Given the description of an element on the screen output the (x, y) to click on. 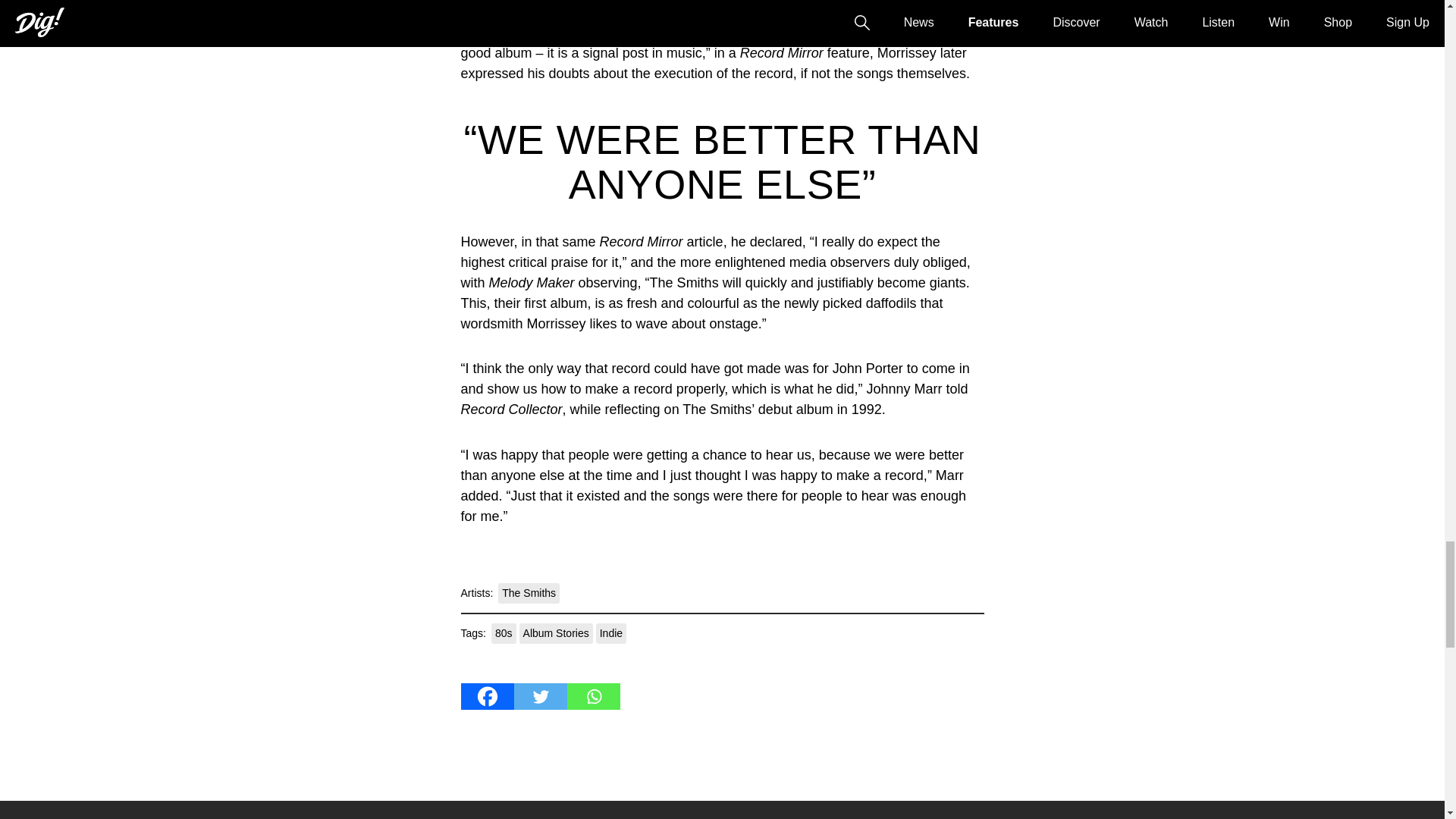
Album Stories (555, 633)
Twitter (540, 696)
80s (504, 633)
Facebook (487, 696)
The Smiths (528, 593)
Indie (610, 633)
Whatsapp (593, 696)
